Given the description of an element on the screen output the (x, y) to click on. 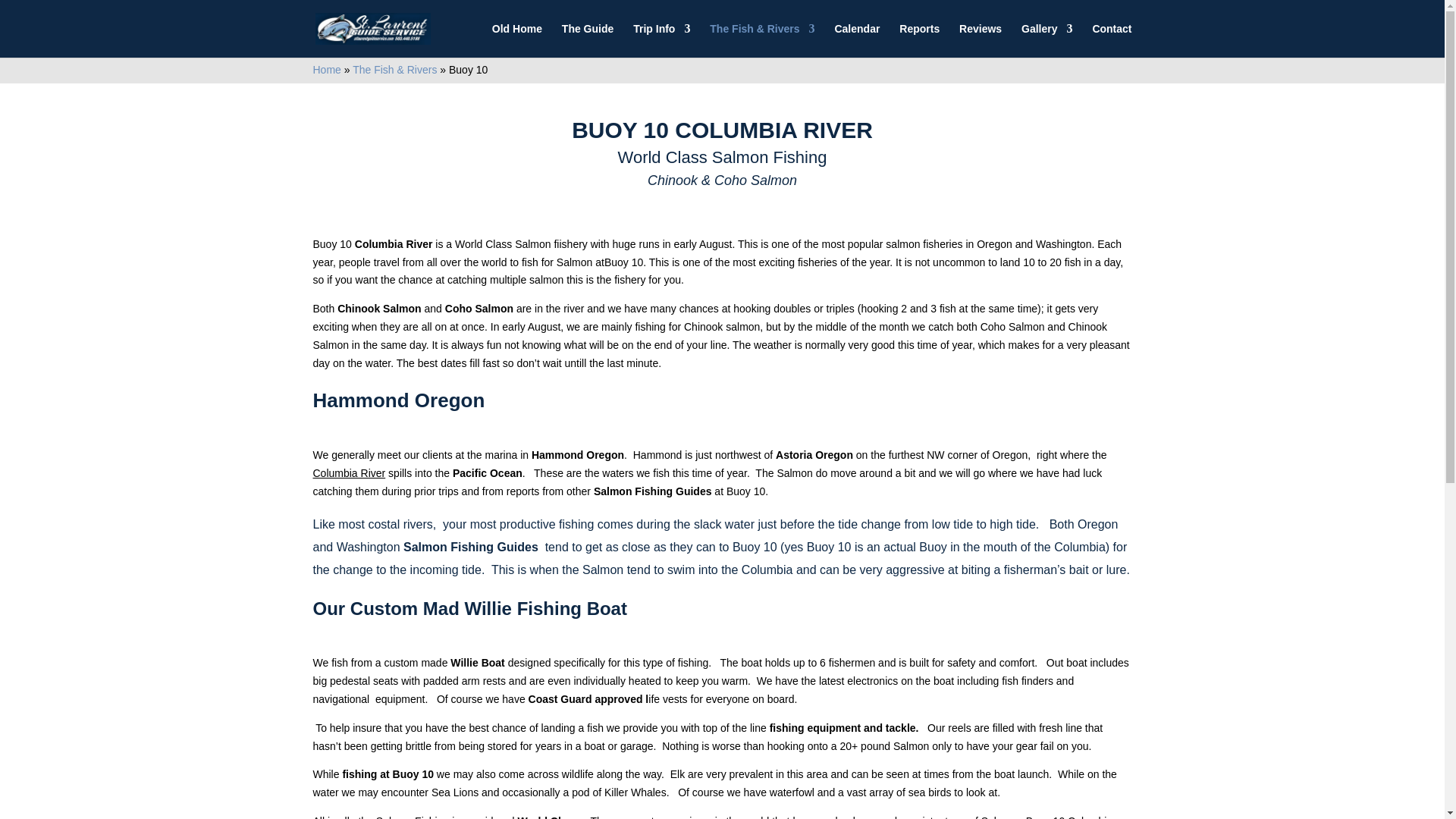
Gallery (1046, 40)
Old Home (516, 40)
Calendar (856, 40)
The Guide (587, 40)
Trip Info (661, 40)
Reviews (980, 40)
Contact (1111, 40)
Reports (919, 40)
